Given the description of an element on the screen output the (x, y) to click on. 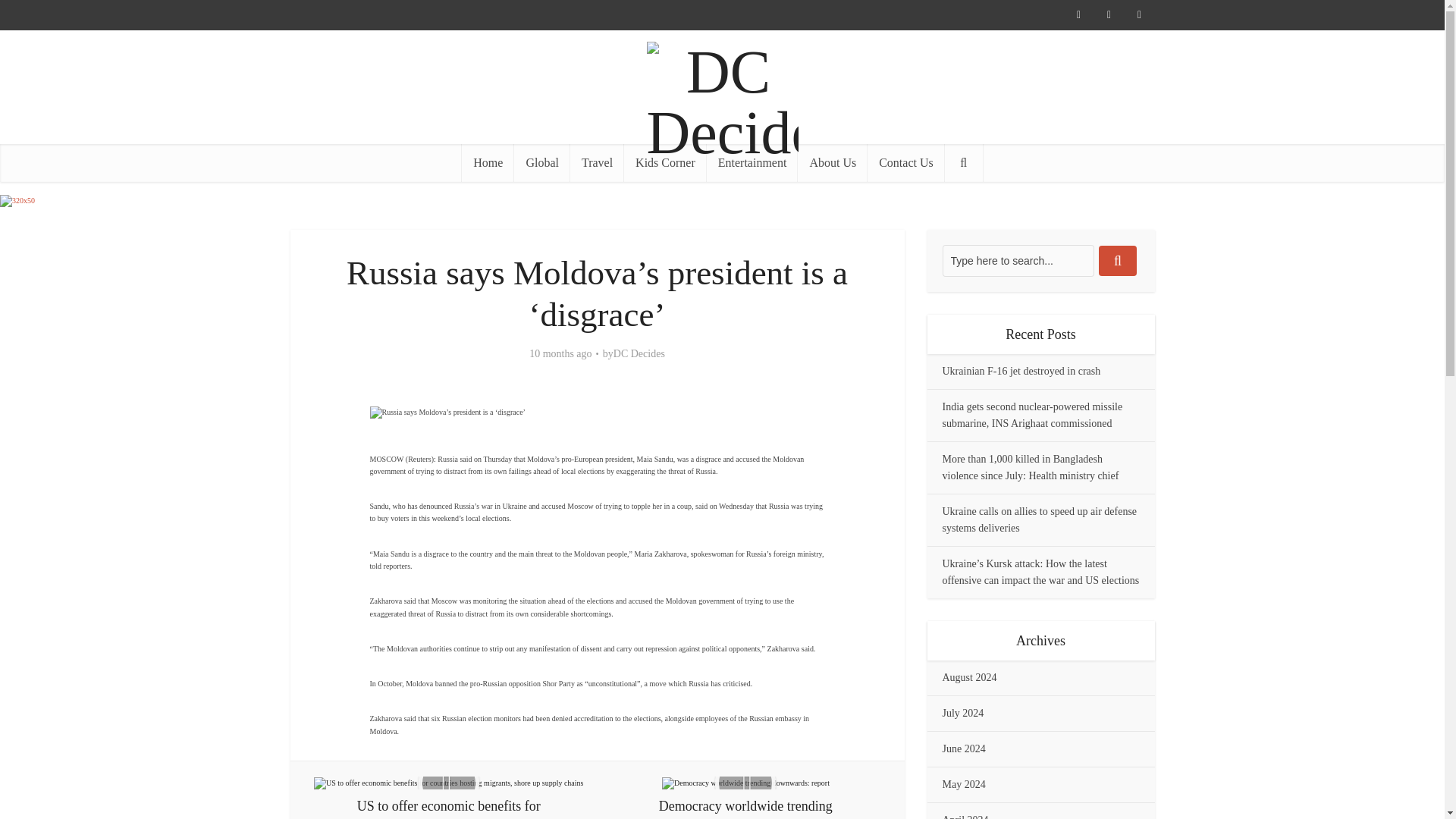
10 months ago (560, 354)
Kids Corner (665, 162)
Home (487, 162)
Type here to search... (1017, 260)
Democracy worldwide trending downwards: report (745, 783)
Type here to search... (1017, 260)
Travel (597, 162)
320x50 (17, 200)
DC Decides (638, 354)
Contact Us (905, 162)
